Given the description of an element on the screen output the (x, y) to click on. 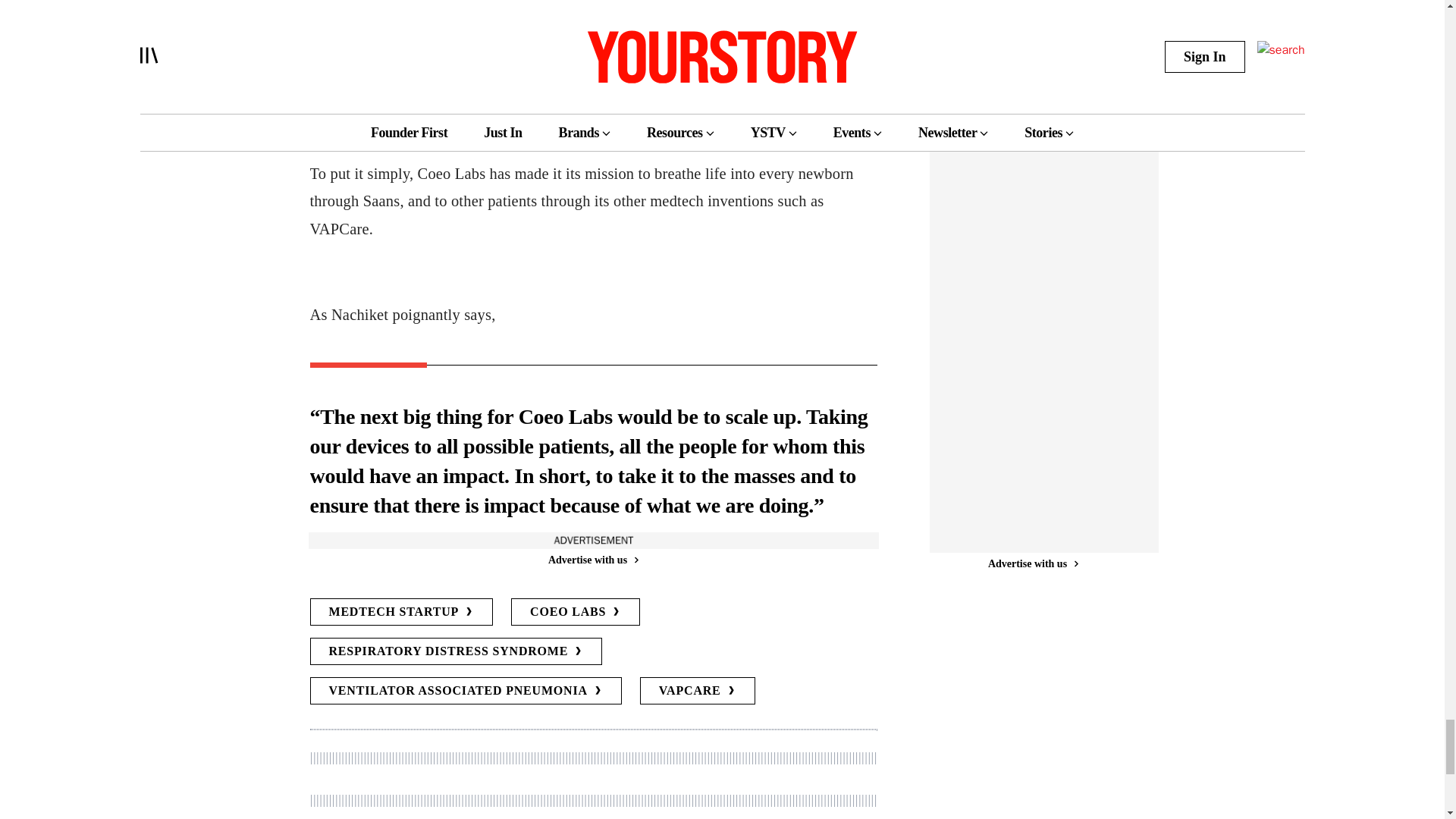
Advertise with us (592, 560)
VAPCARE (697, 690)
RESPIRATORY DISTRESS SYNDROME (455, 651)
VENTILATOR ASSOCIATED PNEUMONIA (464, 690)
MEDTECH STARTUP (400, 611)
COEO LABS (575, 611)
